Given the description of an element on the screen output the (x, y) to click on. 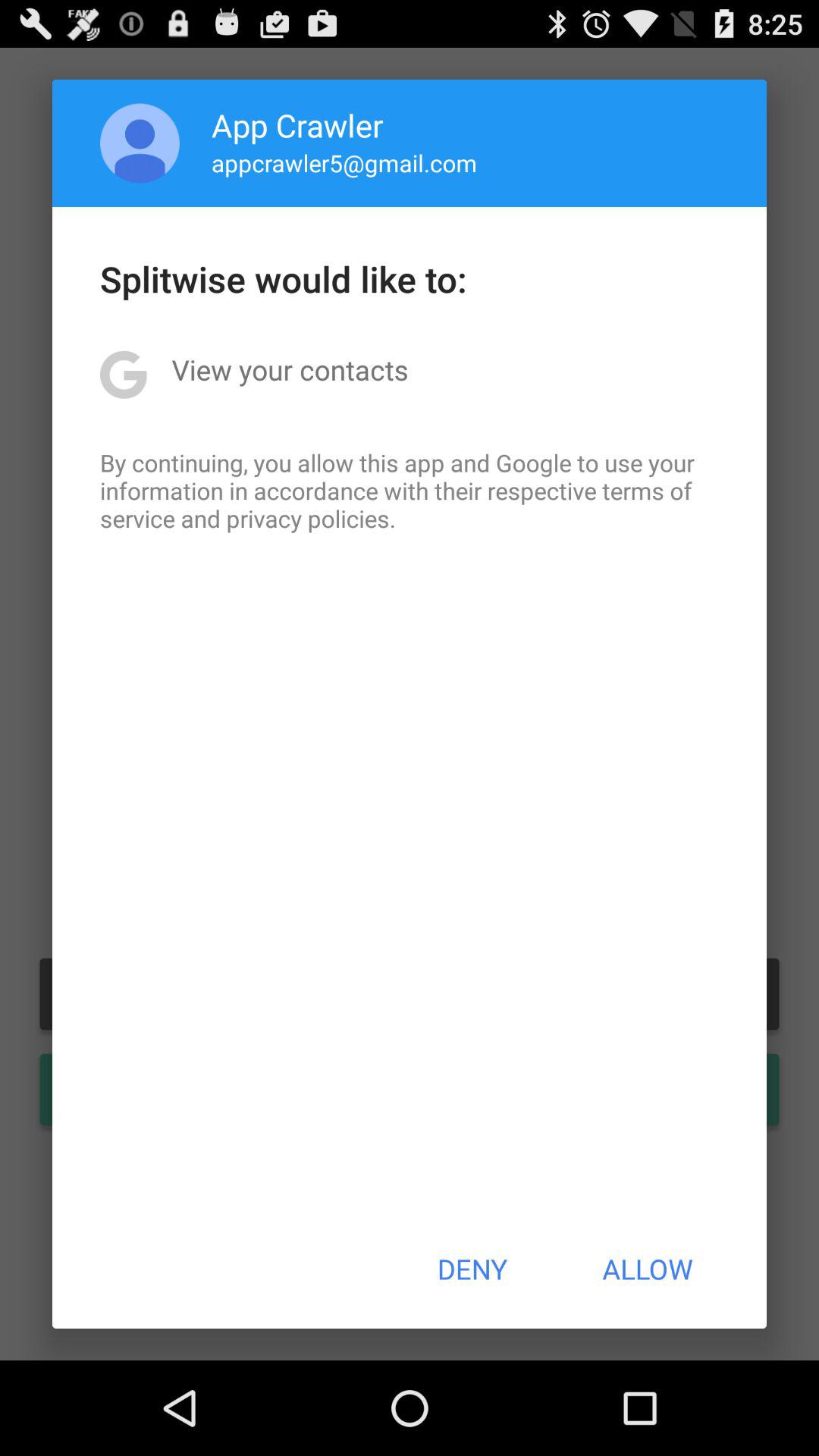
press appcrawler5@gmail.com app (344, 162)
